Given the description of an element on the screen output the (x, y) to click on. 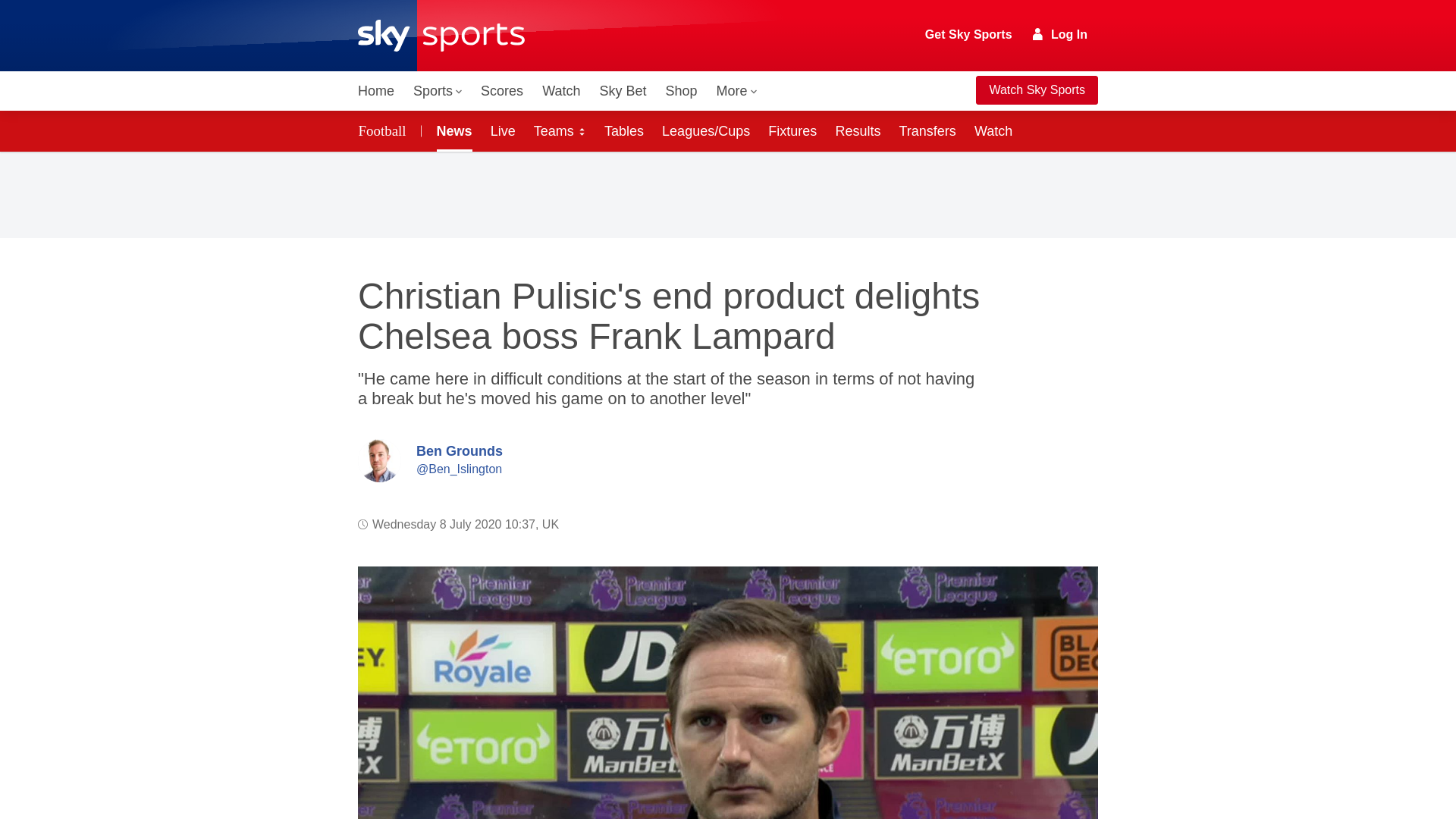
Log In (1060, 33)
News (451, 130)
Sky Bet (622, 91)
Football (385, 130)
Home (375, 91)
Sports (437, 91)
Watch (561, 91)
Watch Sky Sports (1036, 90)
Shop (681, 91)
Get Sky Sports (968, 34)
